Given the description of an element on the screen output the (x, y) to click on. 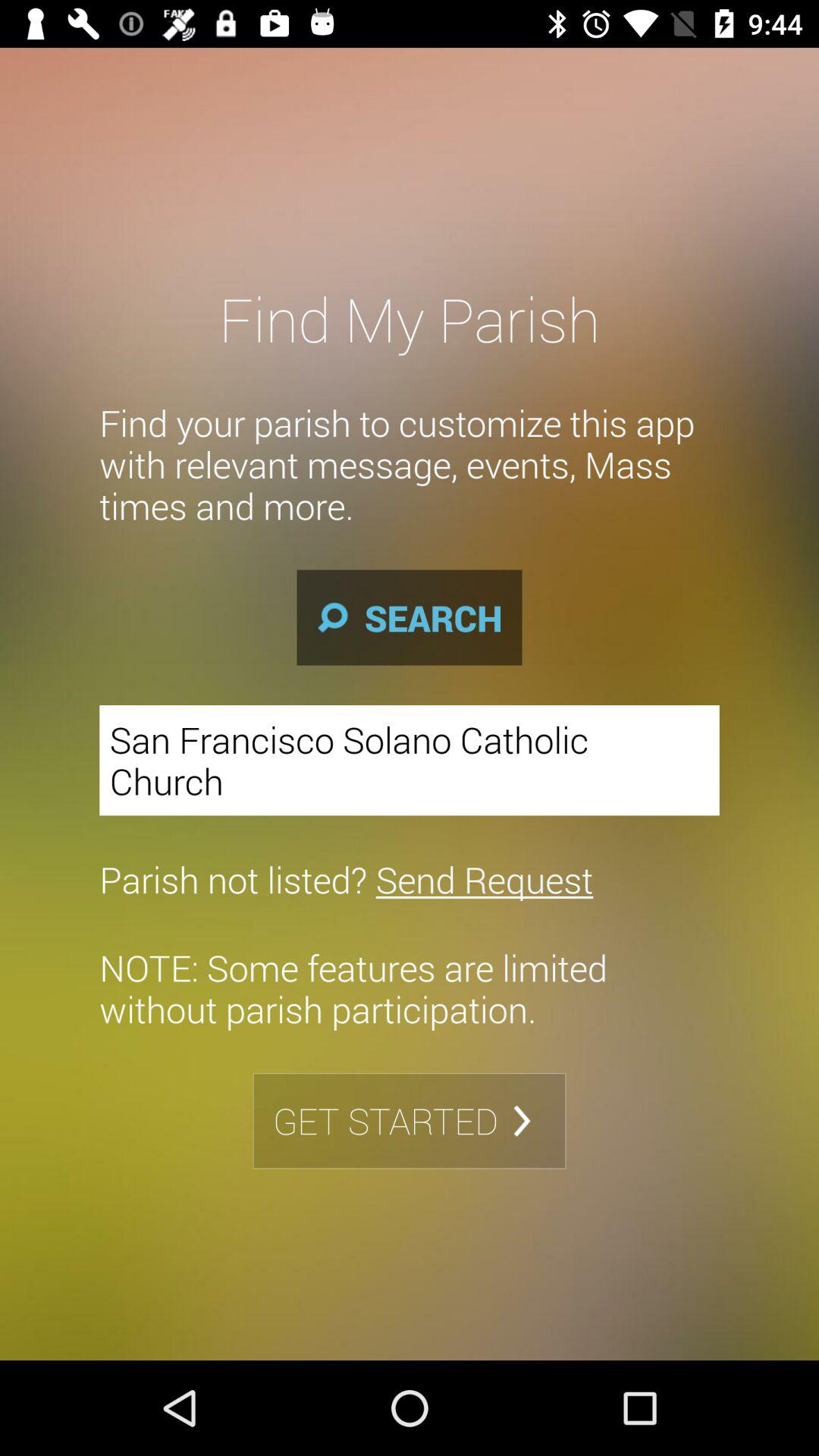
launch item below san francisco solano item (346, 879)
